Given the description of an element on the screen output the (x, y) to click on. 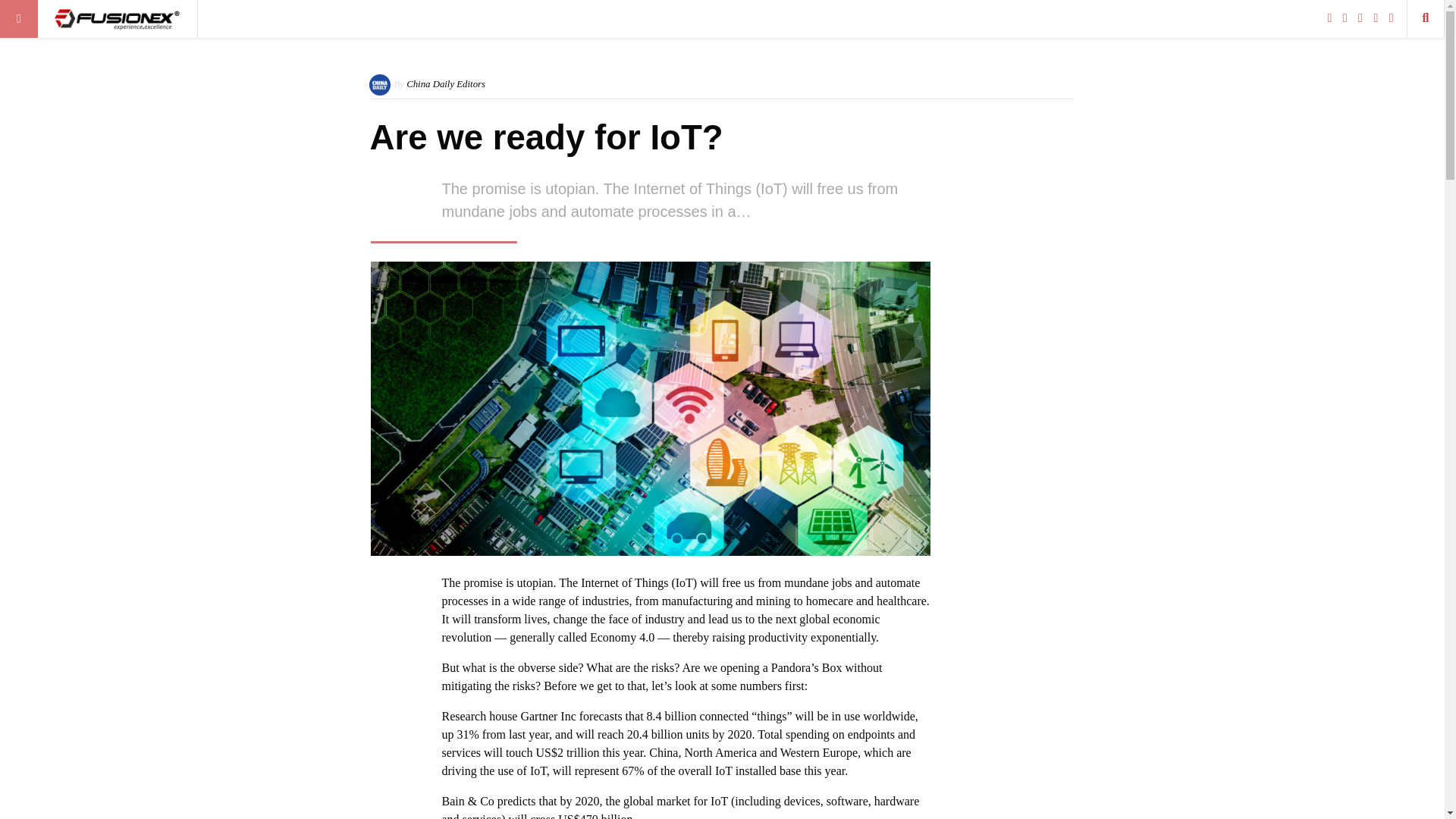
China Daily Editors (445, 83)
Posts by China Daily Editors (445, 83)
